Given the description of an element on the screen output the (x, y) to click on. 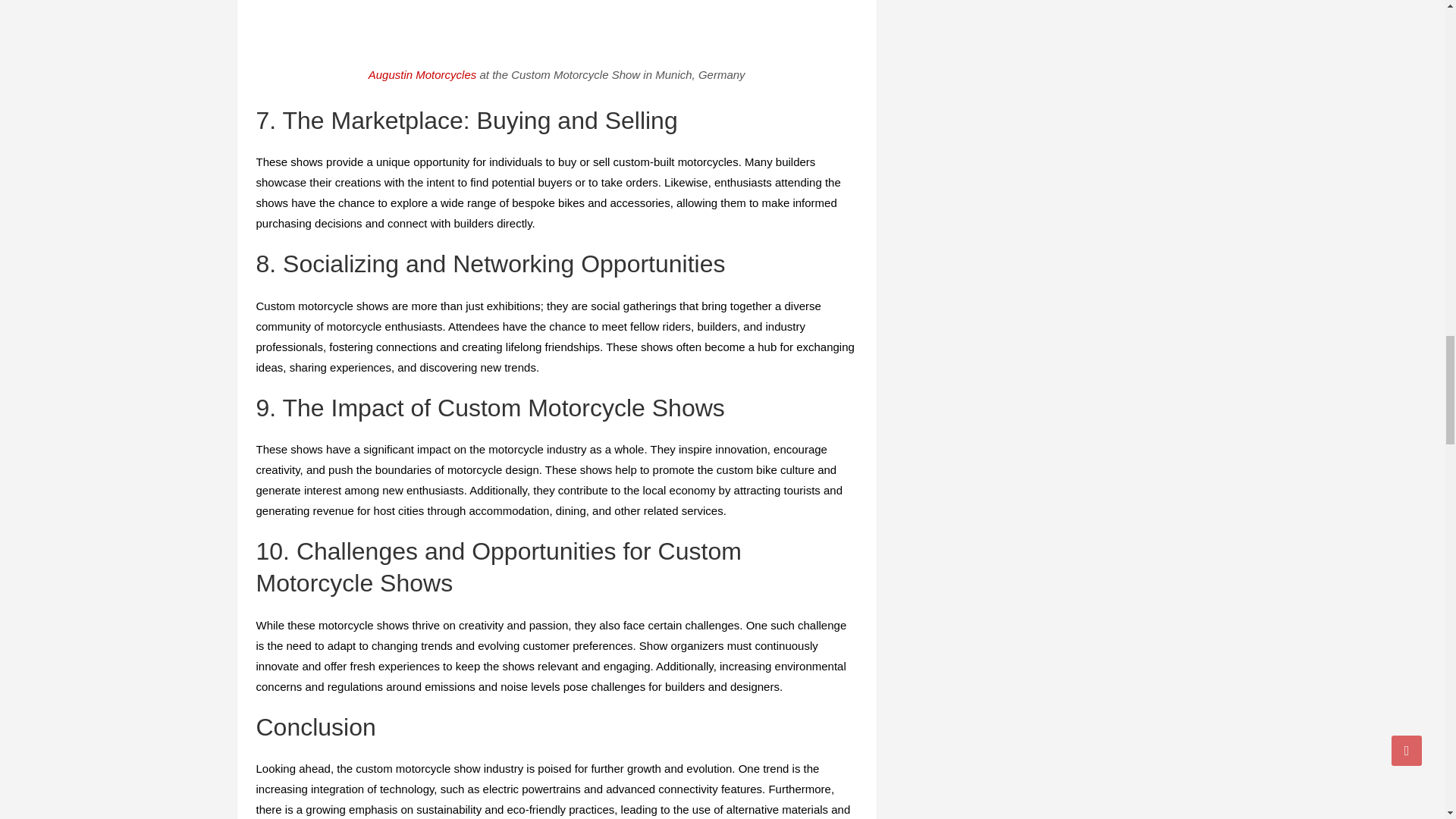
Augustin Motorcycles (422, 74)
